Given the description of an element on the screen output the (x, y) to click on. 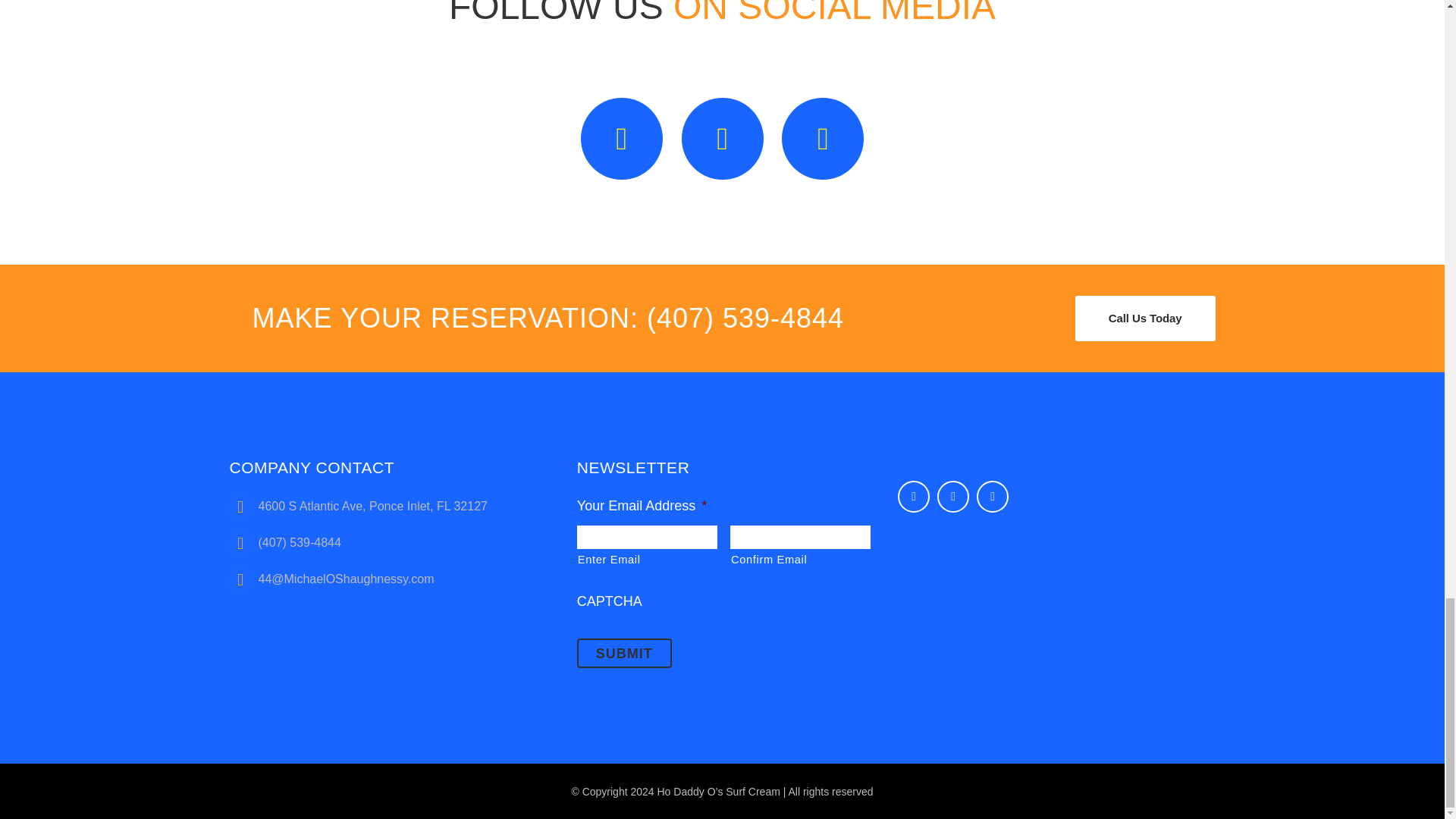
Submit (623, 653)
Call Us Today (1145, 318)
Submit (623, 653)
